Given the description of an element on the screen output the (x, y) to click on. 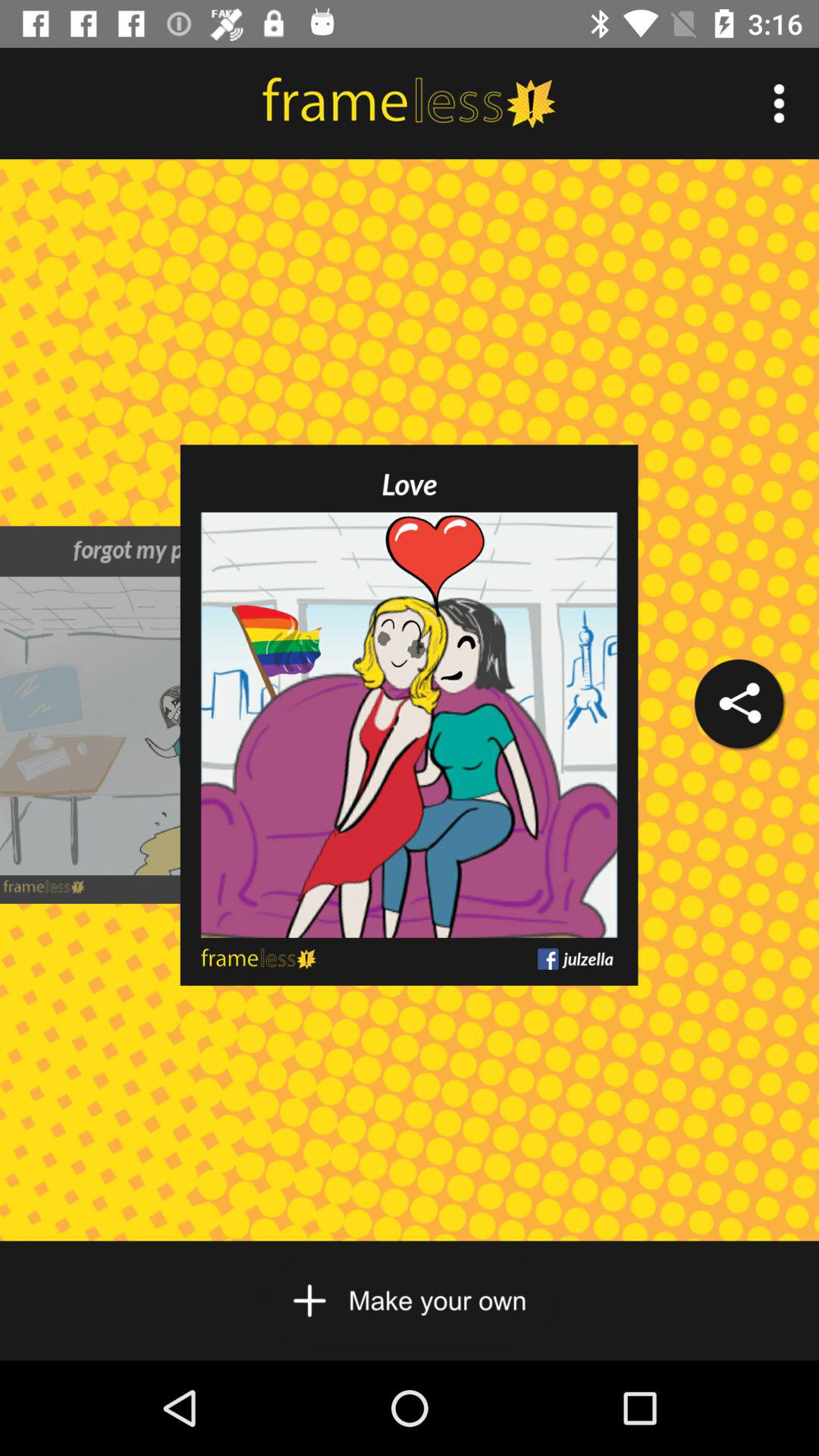
share picture (738, 703)
